Given the description of an element on the screen output the (x, y) to click on. 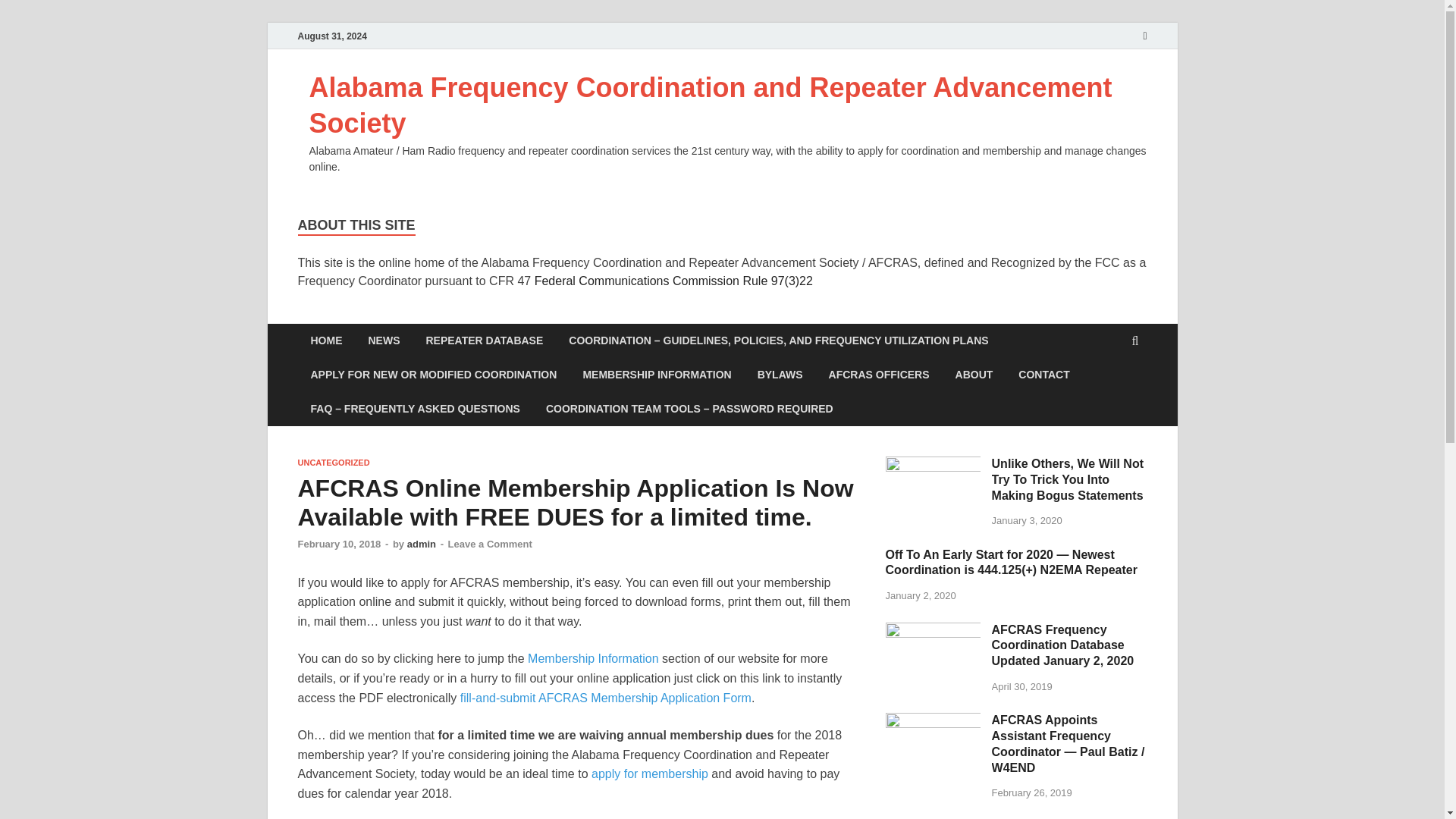
fill-and-submit AFCRAS Membership Application Form (605, 697)
ABOUT (974, 374)
UNCATEGORIZED (333, 461)
February 10, 2018 (338, 543)
HOME (326, 340)
MEMBERSHIP INFORMATION (656, 374)
Leave a Comment (490, 543)
NEWS (383, 340)
